Given the description of an element on the screen output the (x, y) to click on. 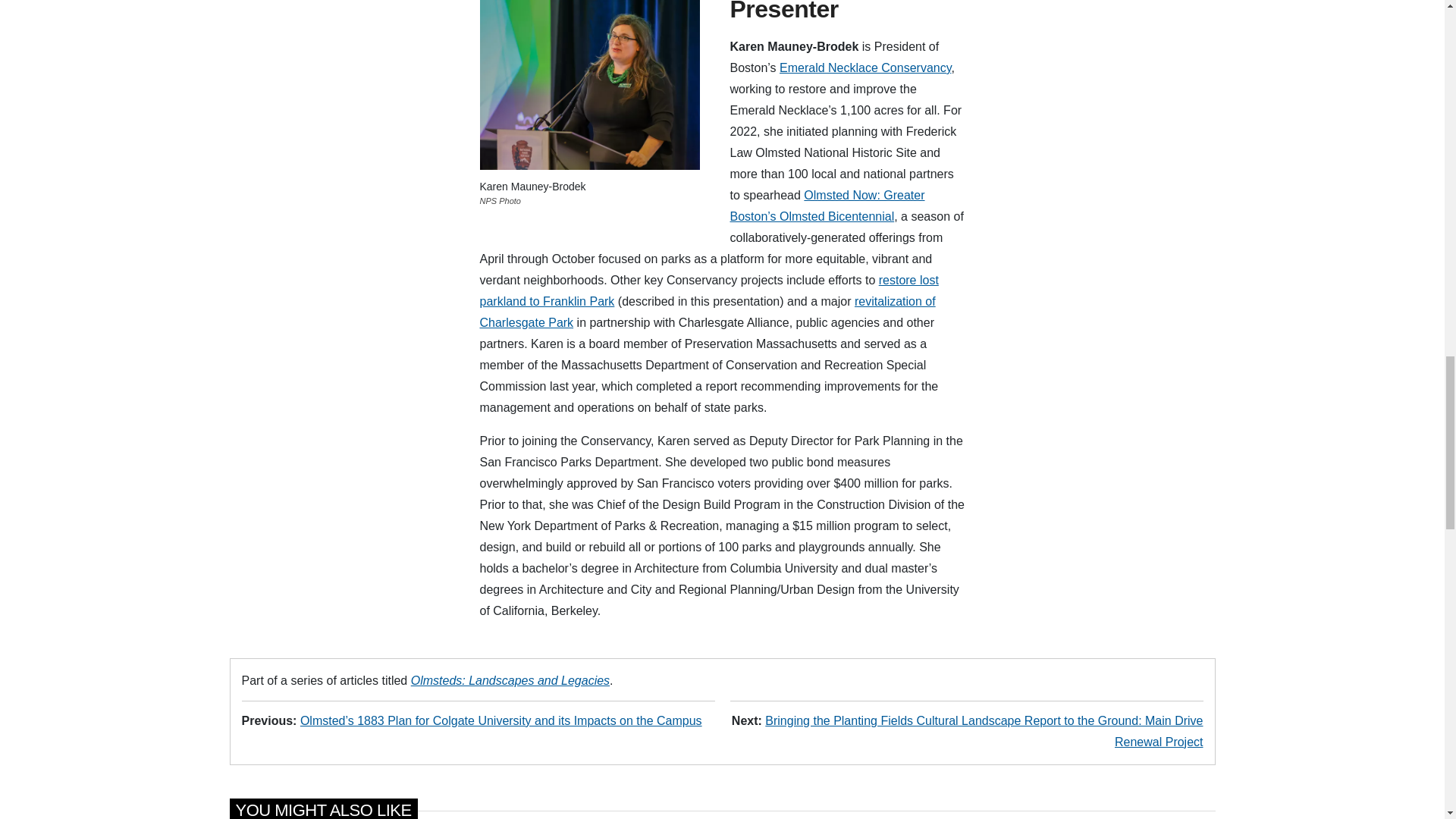
Emerald Necklace Conservancy (864, 67)
Karen Mauney-Brodek (588, 84)
